Given the description of an element on the screen output the (x, y) to click on. 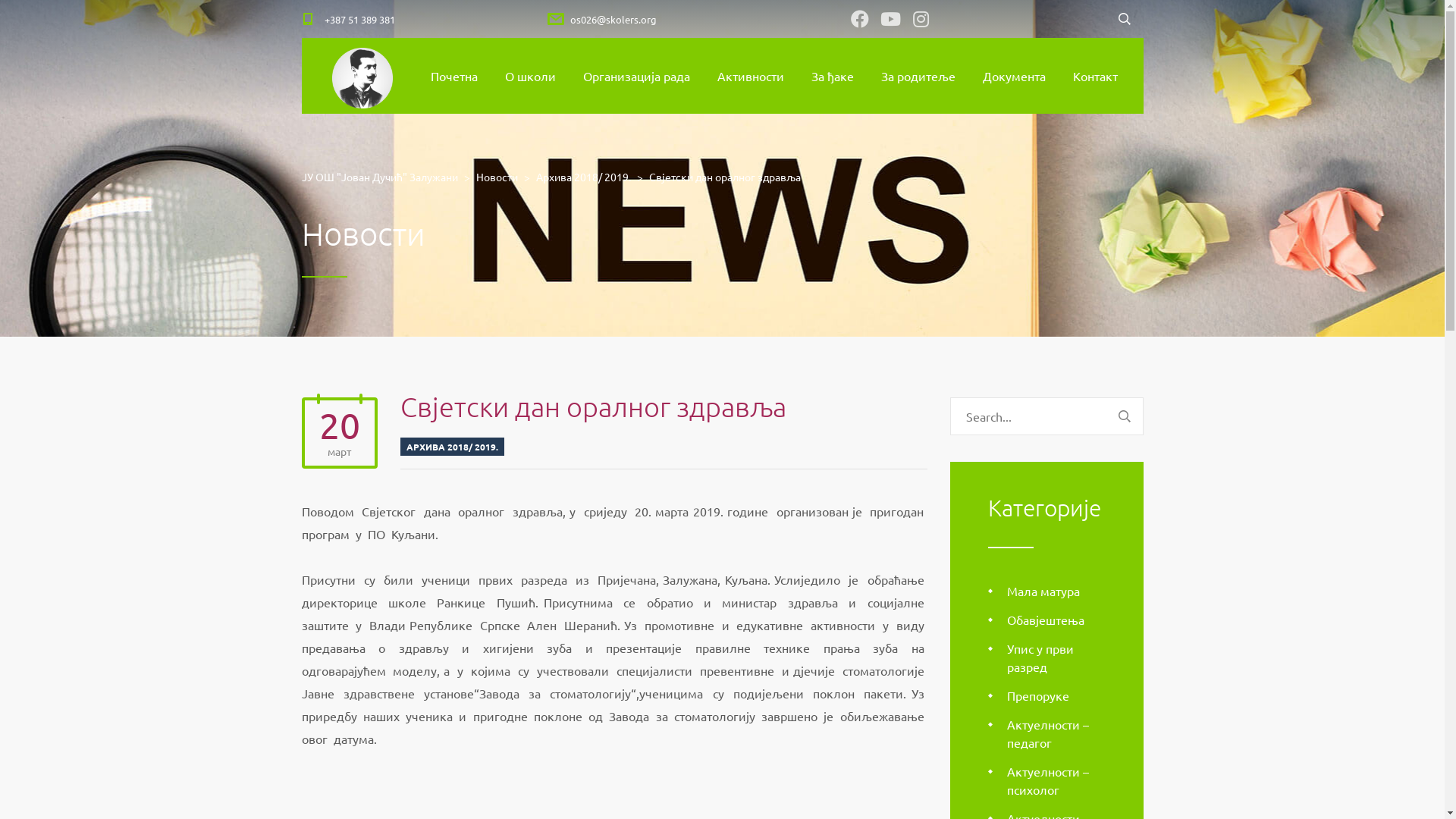
os026@skolers.org Element type: text (613, 18)
+387 51 389 381 Element type: text (359, 18)
